Given the description of an element on the screen output the (x, y) to click on. 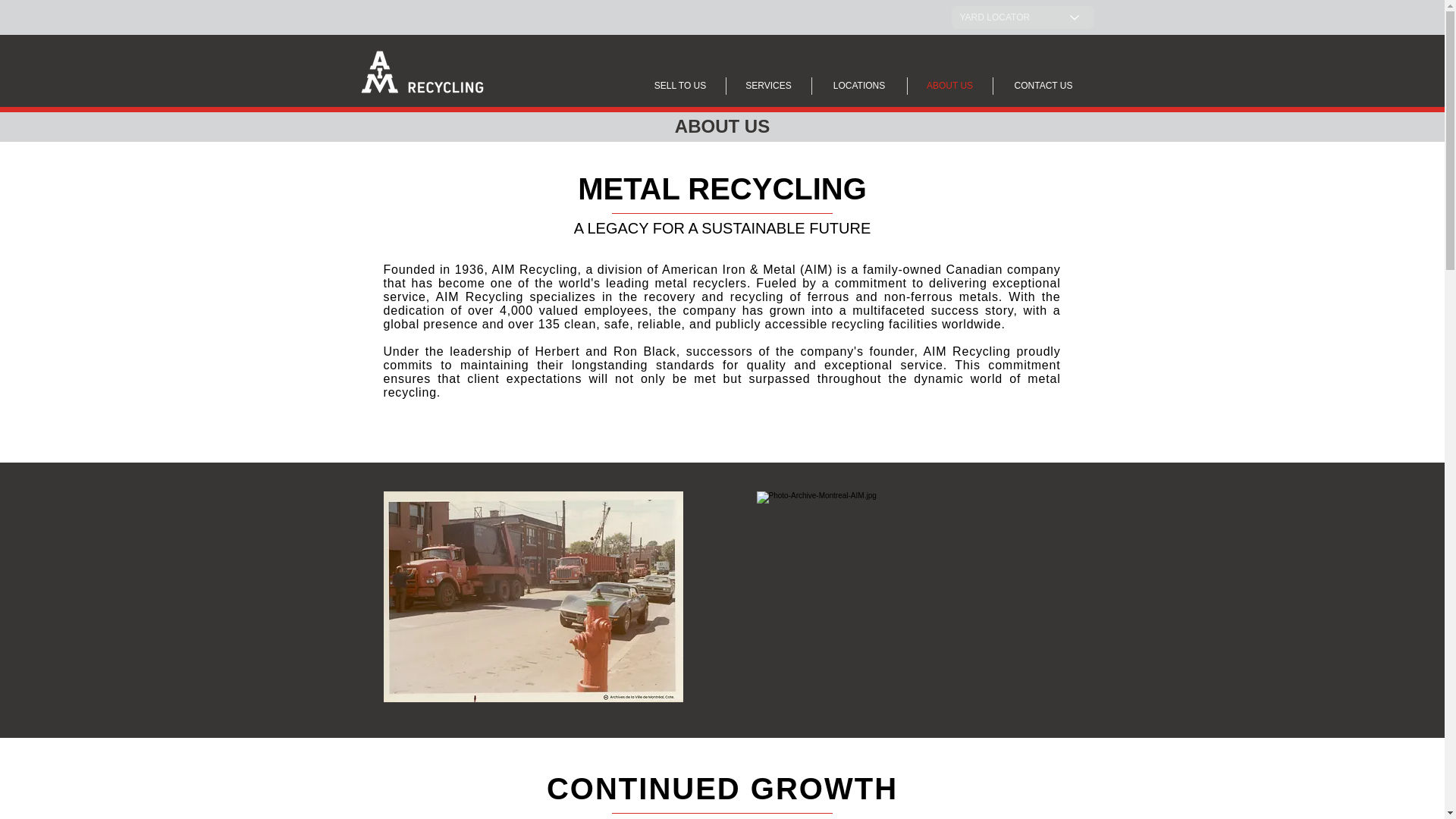
SERVICES (768, 85)
CONTACT US (1043, 85)
SELL TO US (679, 85)
LOCATIONS (857, 85)
ABOUT US (949, 85)
